Given the description of an element on the screen output the (x, y) to click on. 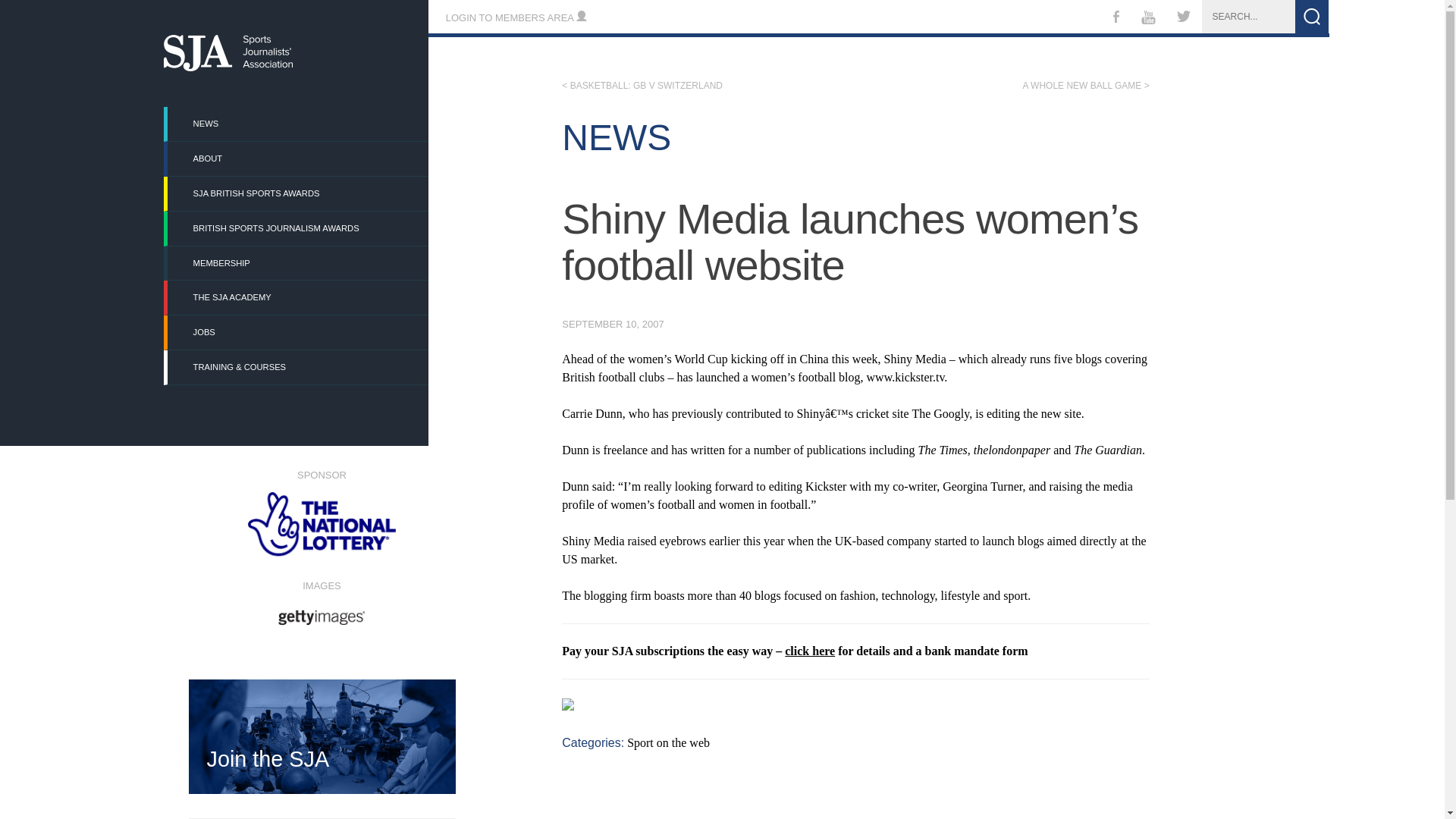
AIPS page (588, 609)
IMAGES (320, 600)
ABOUT (297, 158)
MEMBERSHIP (297, 263)
Sport on the web (668, 742)
LOGIN TO MEMBERS AREA (514, 18)
BRITISH SPORTS JOURNALISM AWARDS (297, 228)
THE SJA ACADEMY (297, 297)
NEWS (297, 123)
Twitter (1184, 18)
